Given the description of an element on the screen output the (x, y) to click on. 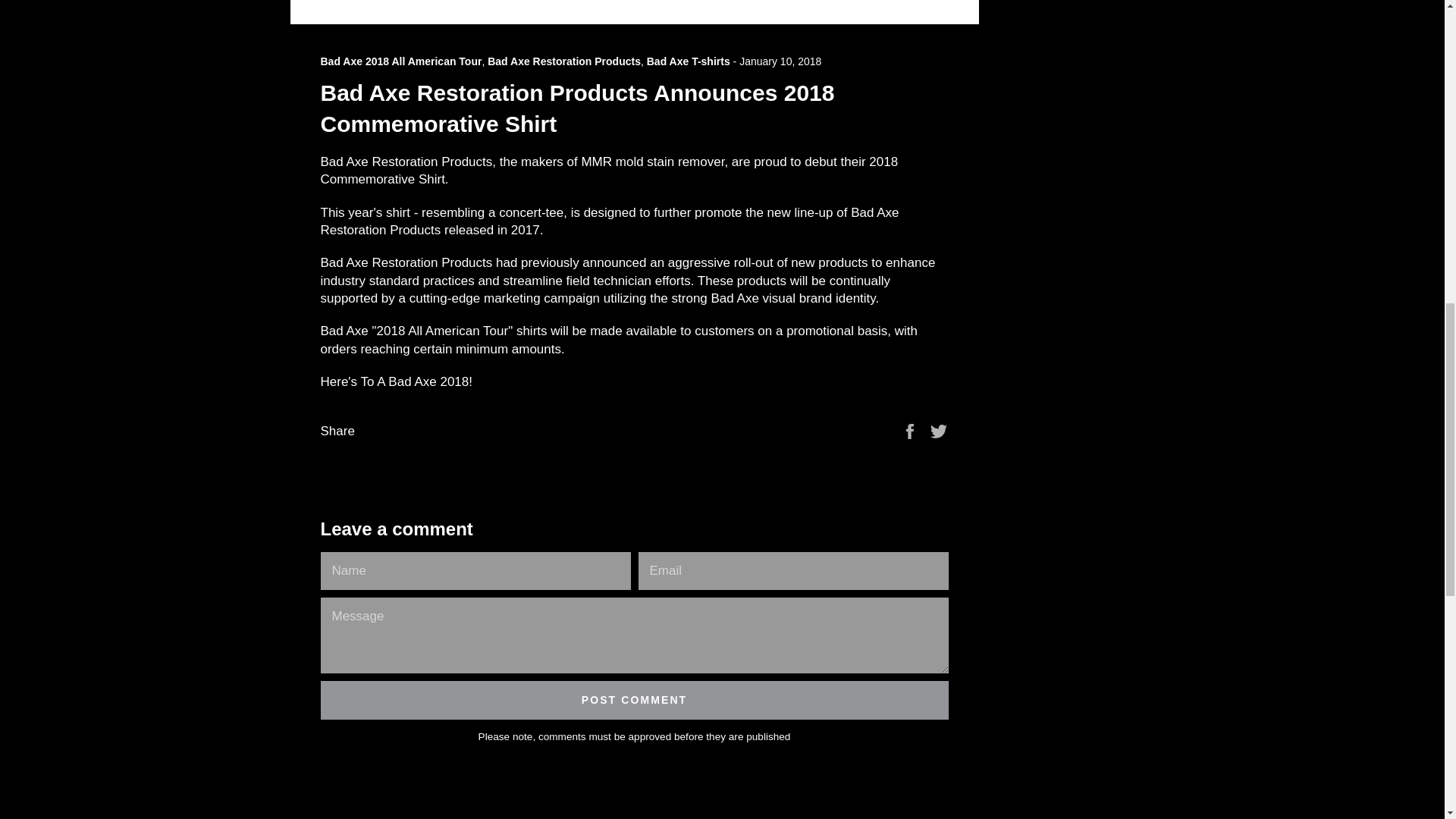
Share on Facebook (912, 431)
Post comment (633, 699)
Tweet on Twitter (938, 431)
